Given the description of an element on the screen output the (x, y) to click on. 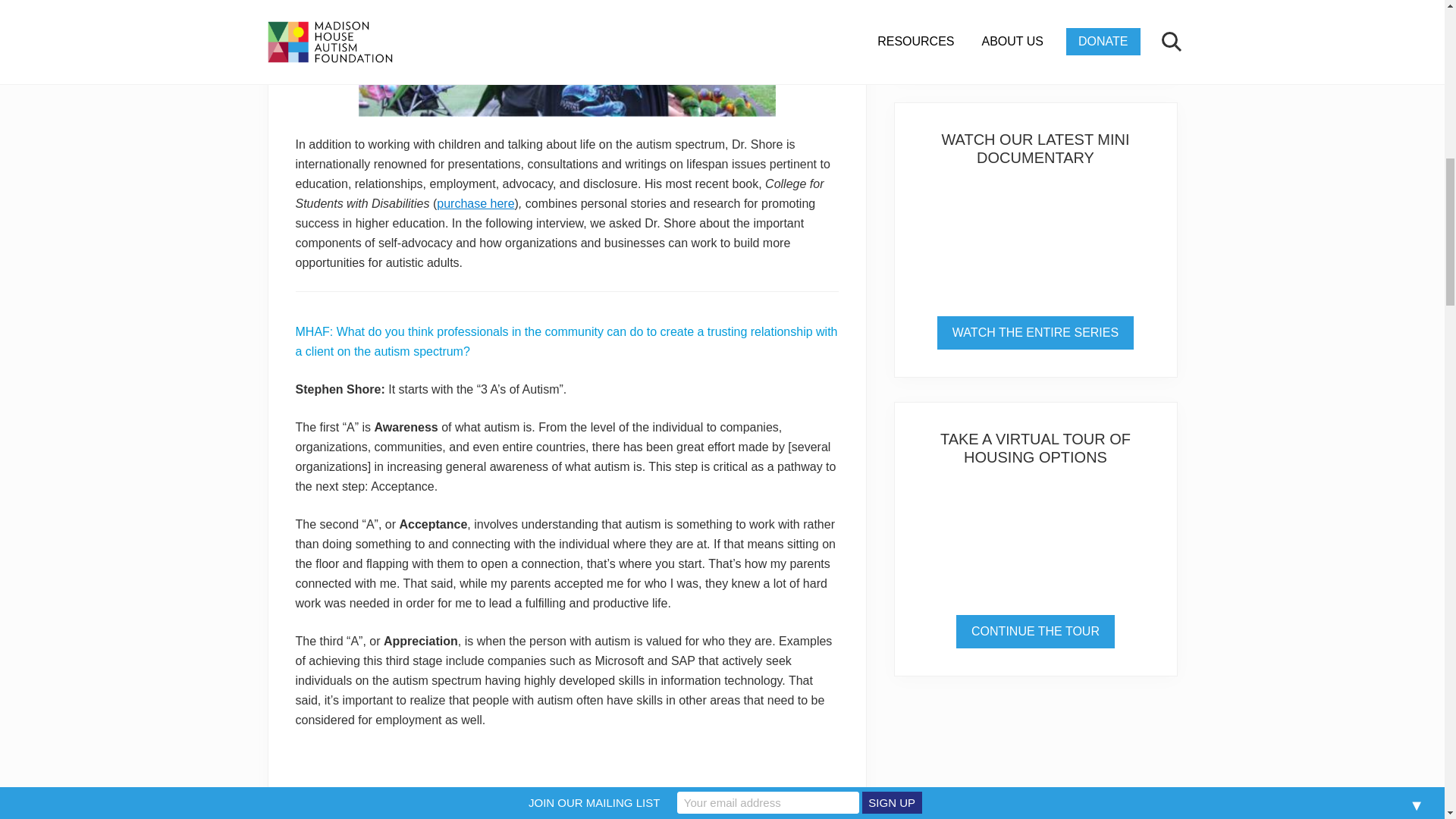
purchase here (474, 203)
